Given the description of an element on the screen output the (x, y) to click on. 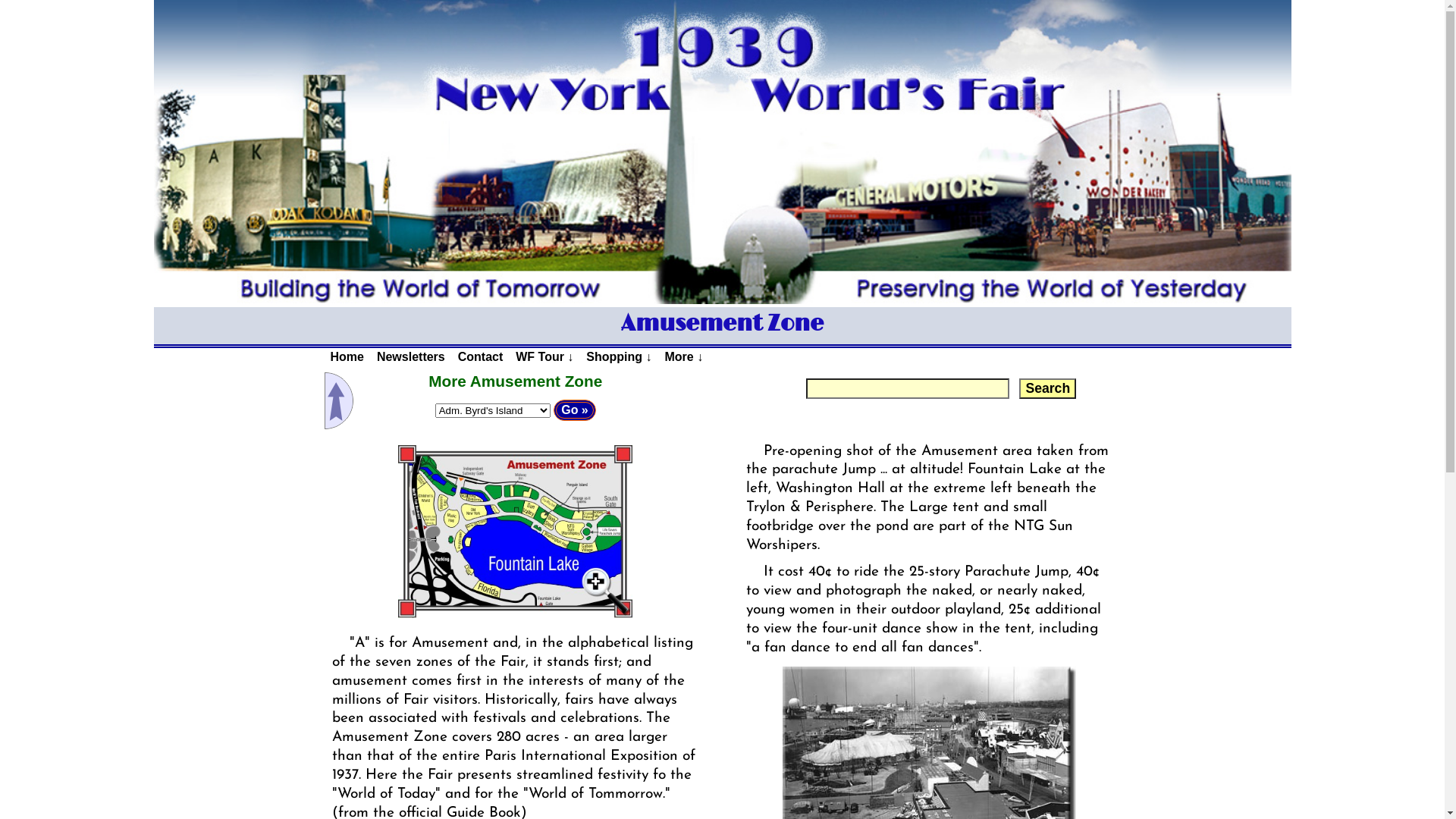
1939 NY World's Fair Masthead Element type: hover (721, 152)
Newsletters Element type: text (410, 357)
Home Element type: text (346, 357)
Contact Element type: text (480, 357)
Search Element type: text (1047, 388)
